Given the description of an element on the screen output the (x, y) to click on. 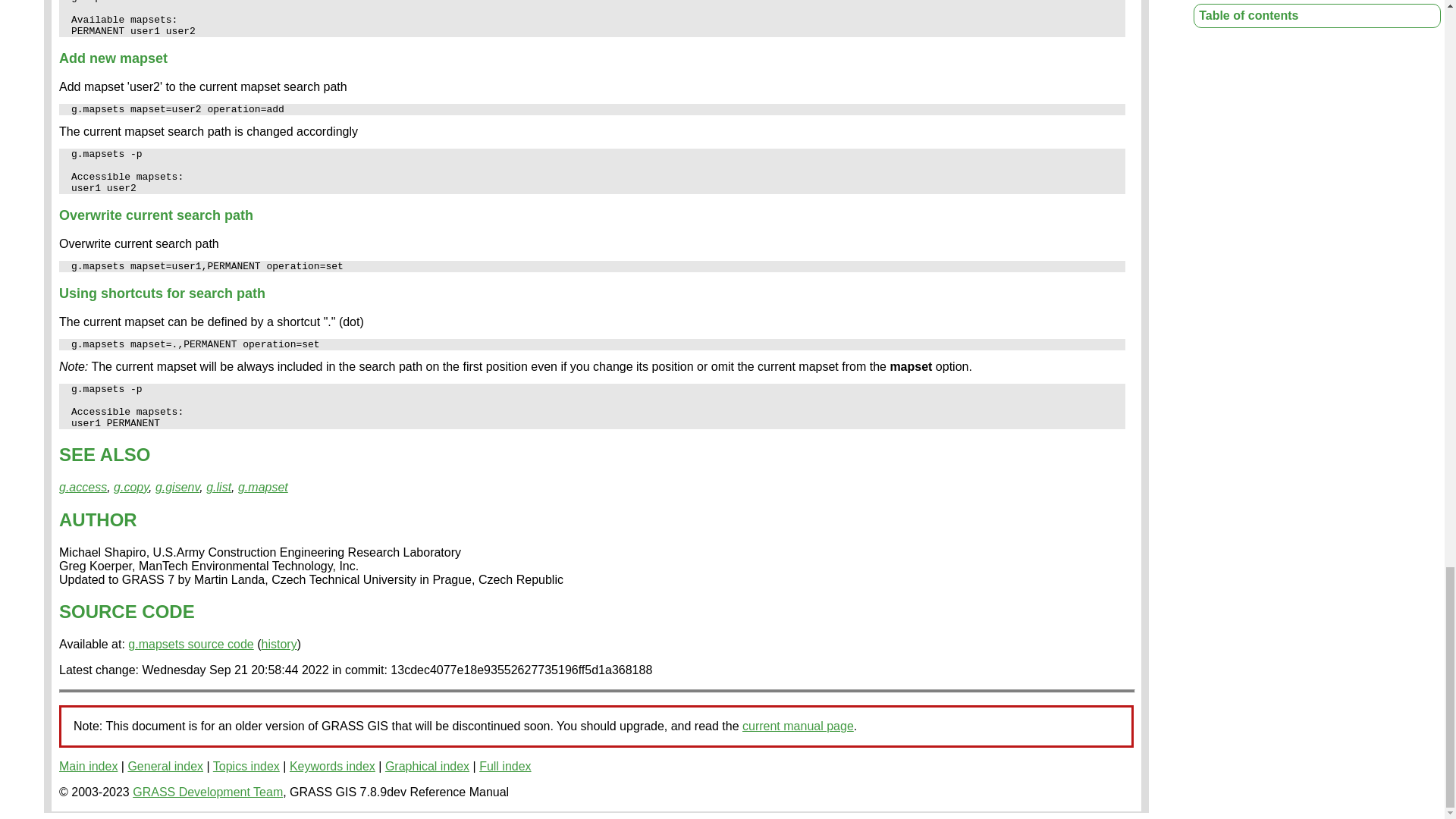
SEE ALSO (104, 454)
g.copy (130, 486)
Using shortcuts for search path (161, 293)
Add new mapset (113, 58)
current manual page (797, 725)
AUTHOR (97, 519)
g.list (218, 486)
g.access (82, 486)
g.gisenv (177, 486)
Overwrite current search path (156, 215)
Main index (88, 766)
g.mapset (263, 486)
g.mapsets source code (190, 644)
history (279, 644)
